Given the description of an element on the screen output the (x, y) to click on. 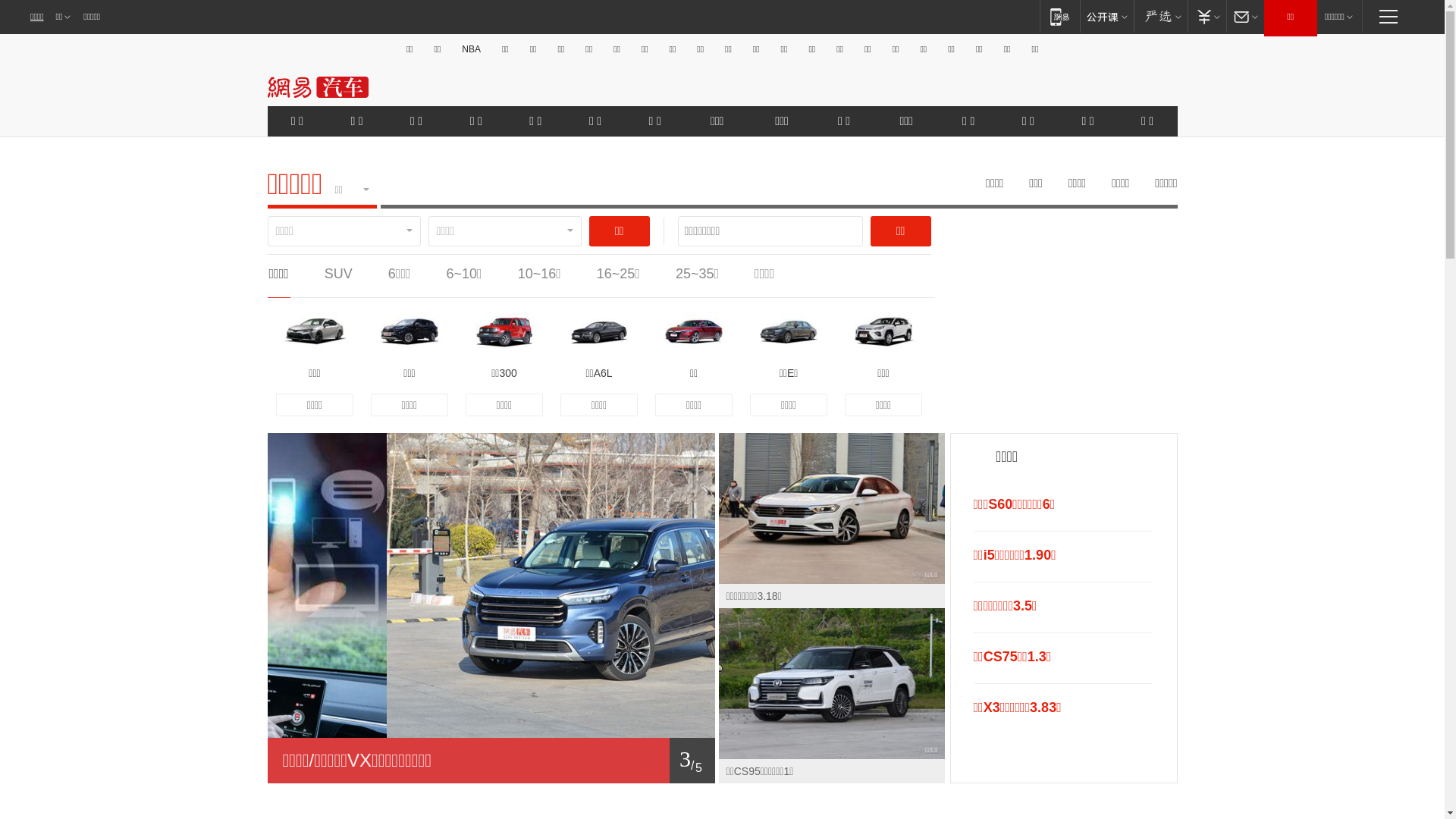
SUV Element type: text (338, 273)
1/ 5 Element type: text (490, 760)
NBA Element type: text (471, 48)
